Given the description of an element on the screen output the (x, y) to click on. 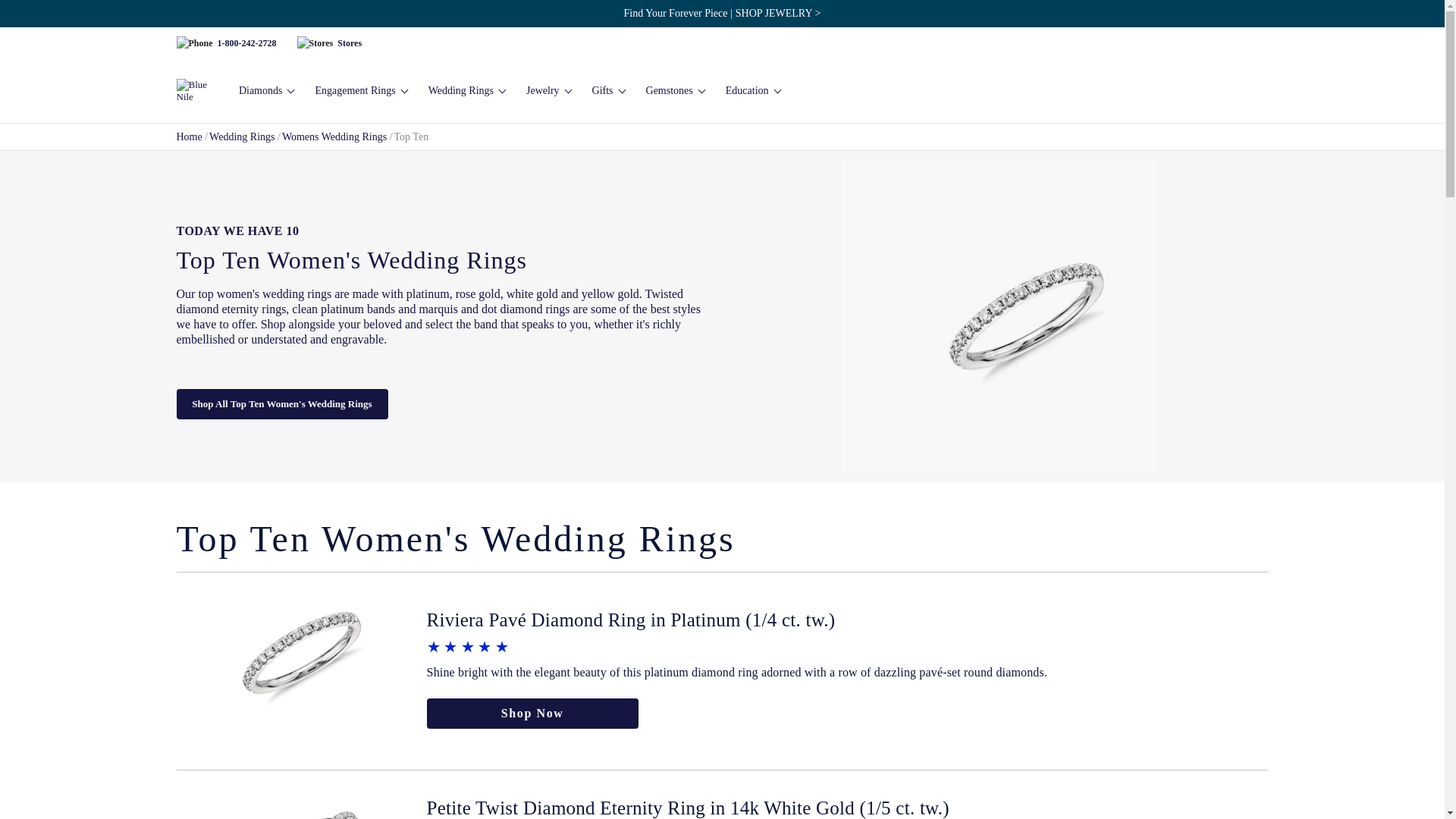
Call (246, 42)
Stores (349, 42)
Shop All Top Ten Women's Wedding Rings (281, 404)
Diamonds (266, 91)
Phone (194, 42)
1-800-242-2728 (246, 42)
Stores (349, 42)
Stores (315, 42)
Top Women's Wedding Rings (999, 316)
Engagement Rings (360, 91)
